Given the description of an element on the screen output the (x, y) to click on. 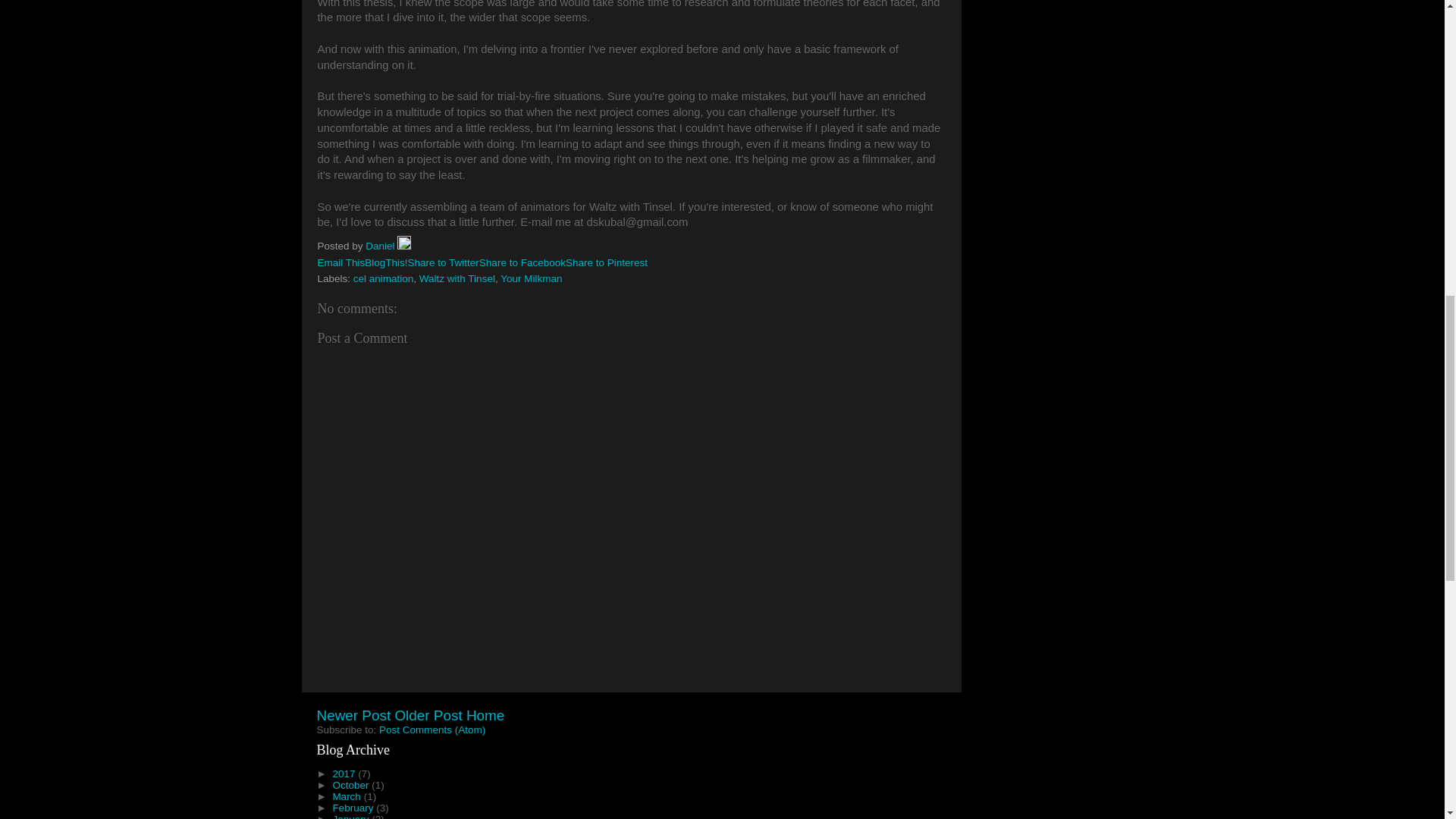
Daniel (381, 245)
Email This (341, 262)
Share to Facebook (522, 262)
February (353, 808)
Edit Post (403, 245)
Email This (341, 262)
March (346, 796)
Older Post (427, 715)
Older Post (427, 715)
BlogThis! (386, 262)
Share to Facebook (522, 262)
Share to Pinterest (606, 262)
cel animation (383, 278)
Share to Pinterest (606, 262)
Newer Post (354, 715)
